Given the description of an element on the screen output the (x, y) to click on. 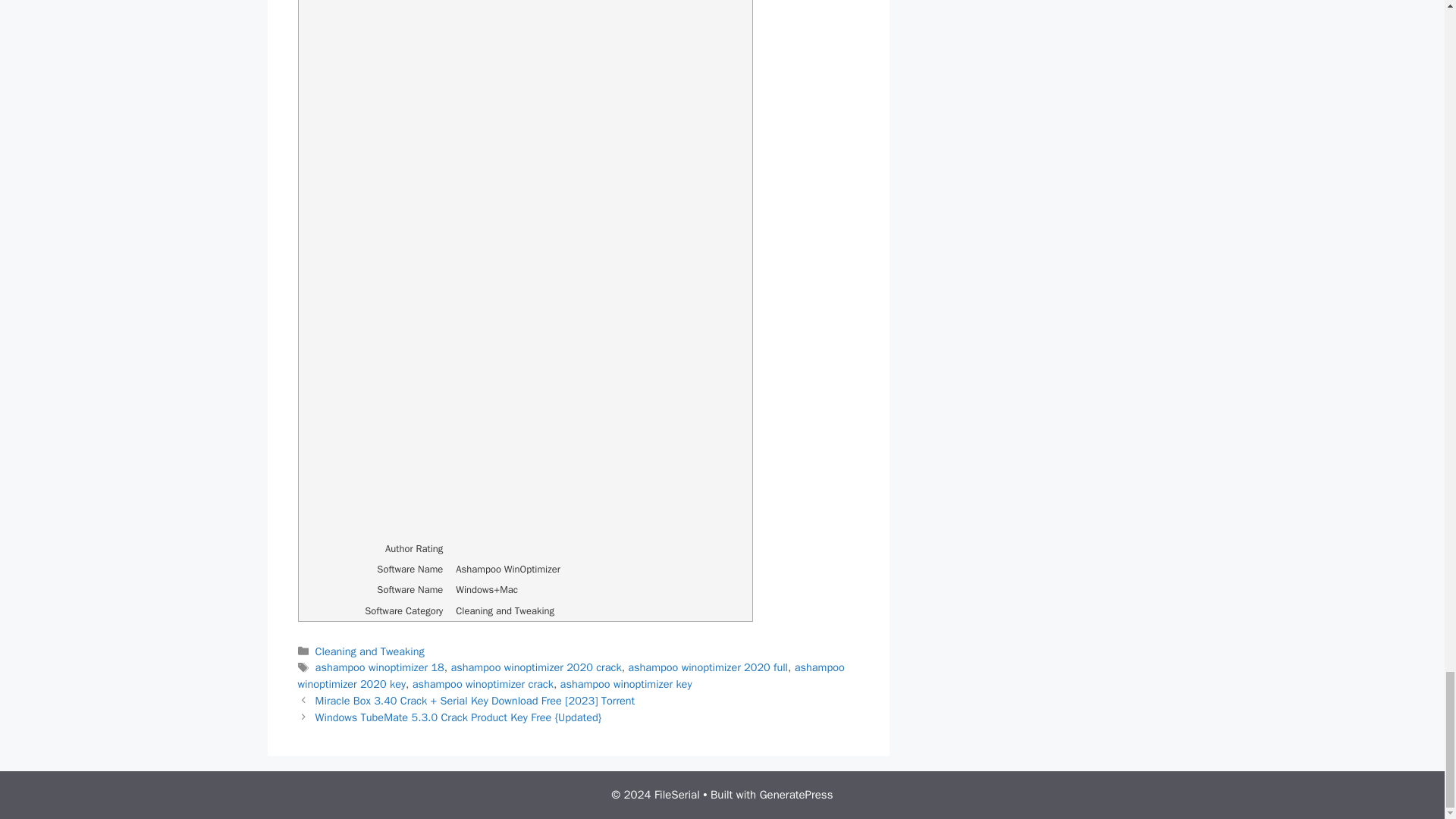
ashampoo winoptimizer 18 (379, 667)
Cleaning and Tweaking (370, 651)
ashampoo winoptimizer 2020 key (570, 675)
ashampoo winoptimizer crack (482, 684)
ashampoo winoptimizer key (626, 684)
ashampoo winoptimizer 2020 full (707, 667)
ashampoo winoptimizer 2020 crack (535, 667)
